Given the description of an element on the screen output the (x, y) to click on. 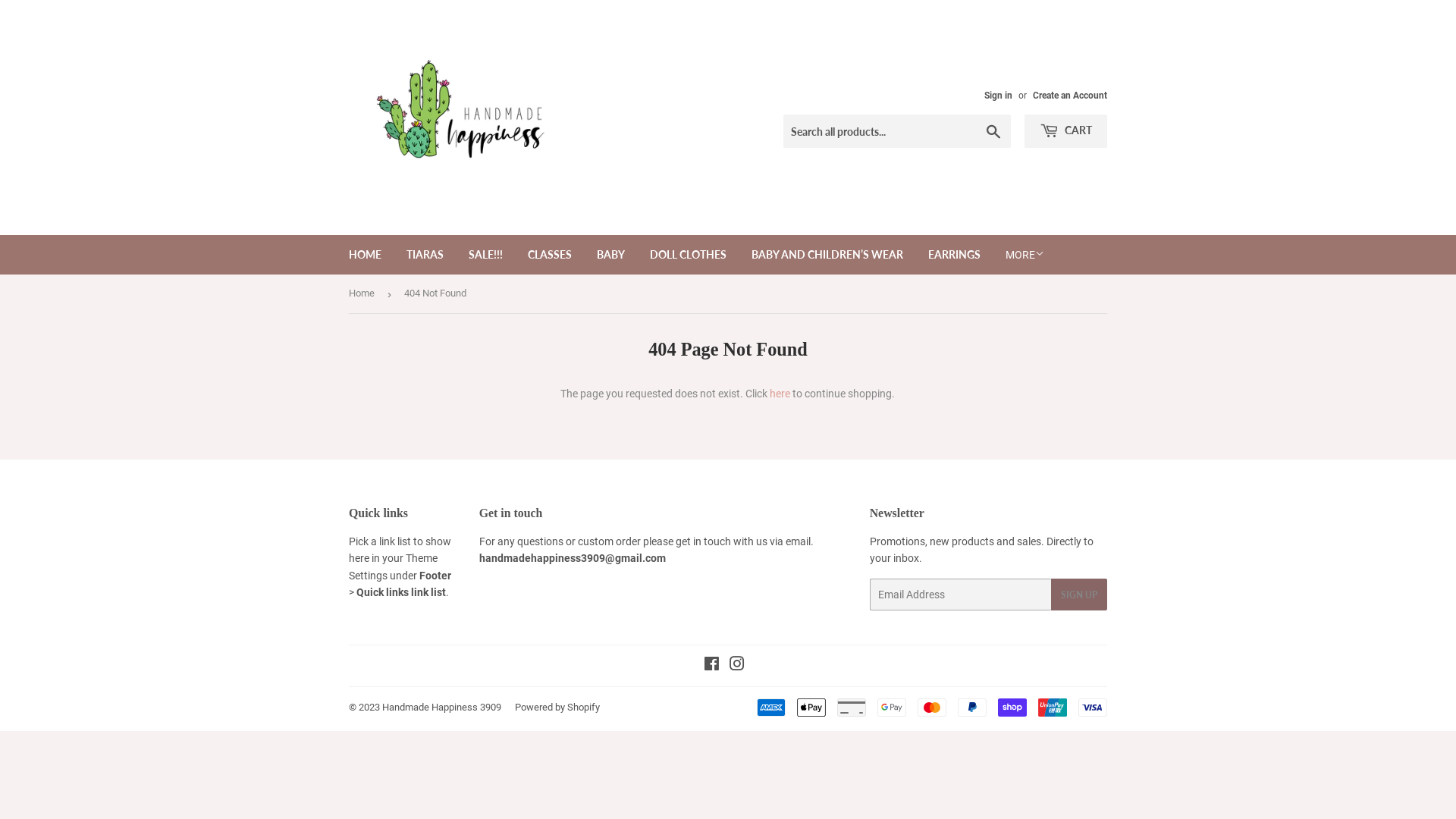
HOME Element type: text (364, 254)
Instagram Element type: text (736, 665)
here Element type: text (779, 393)
Home Element type: text (363, 293)
CART Element type: text (1065, 130)
MORE Element type: text (1024, 254)
SIGN UP Element type: text (1079, 594)
Powered by Shopify Element type: text (556, 706)
Create an Account Element type: text (1069, 95)
CLASSES Element type: text (549, 254)
DOLL CLOTHES Element type: text (687, 254)
SALE!!! Element type: text (485, 254)
Sign in Element type: text (998, 95)
Facebook Element type: text (711, 665)
TIARAS Element type: text (425, 254)
Search Element type: text (993, 131)
Handmade Happiness 3909 Element type: text (441, 706)
EARRINGS Element type: text (953, 254)
Theme Settings Element type: text (392, 566)
BABY Element type: text (610, 254)
